Given the description of an element on the screen output the (x, y) to click on. 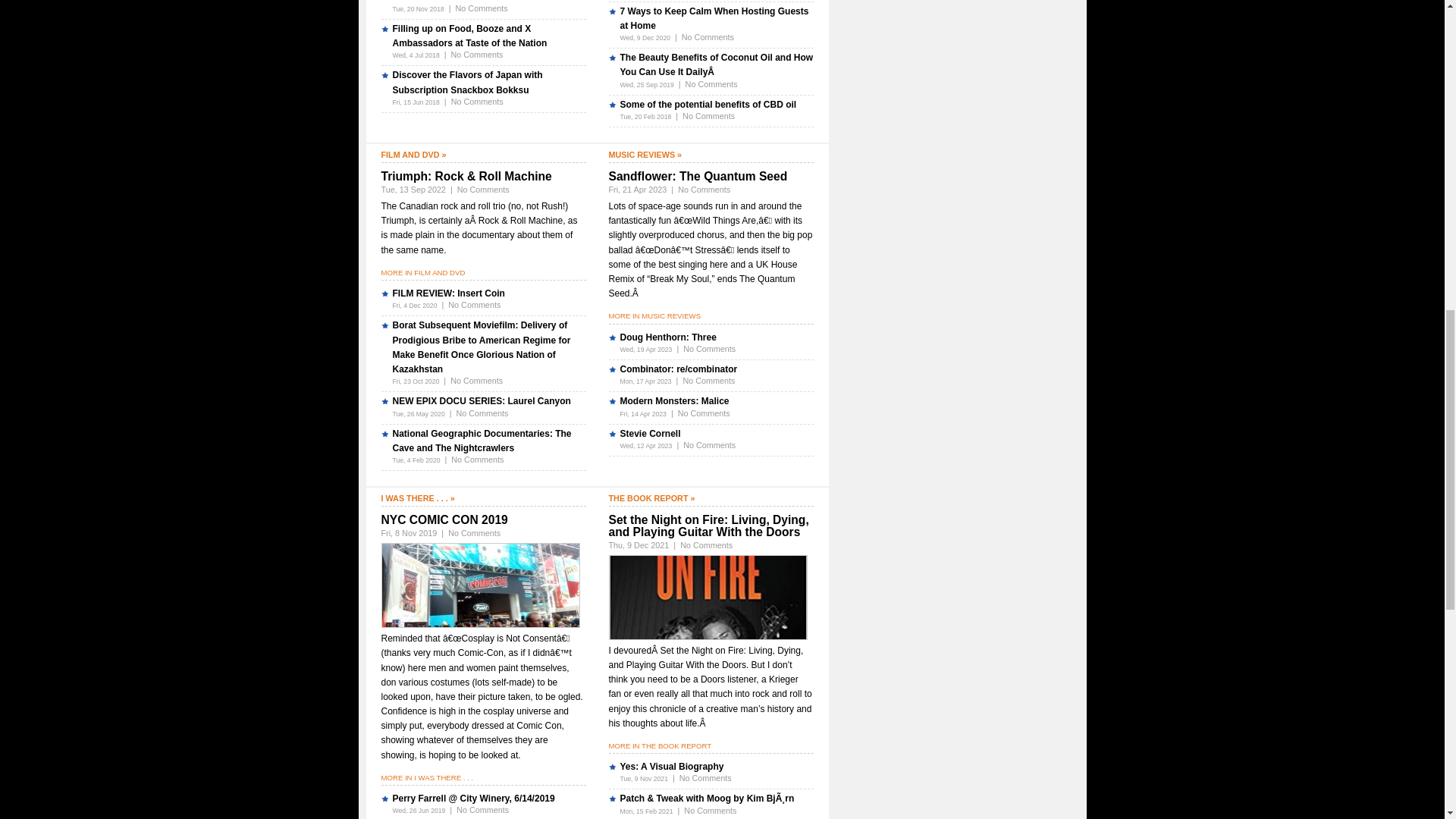
Read 7 Ways to Keep Calm When Hosting Guests at Home (714, 18)
